Given the description of an element on the screen output the (x, y) to click on. 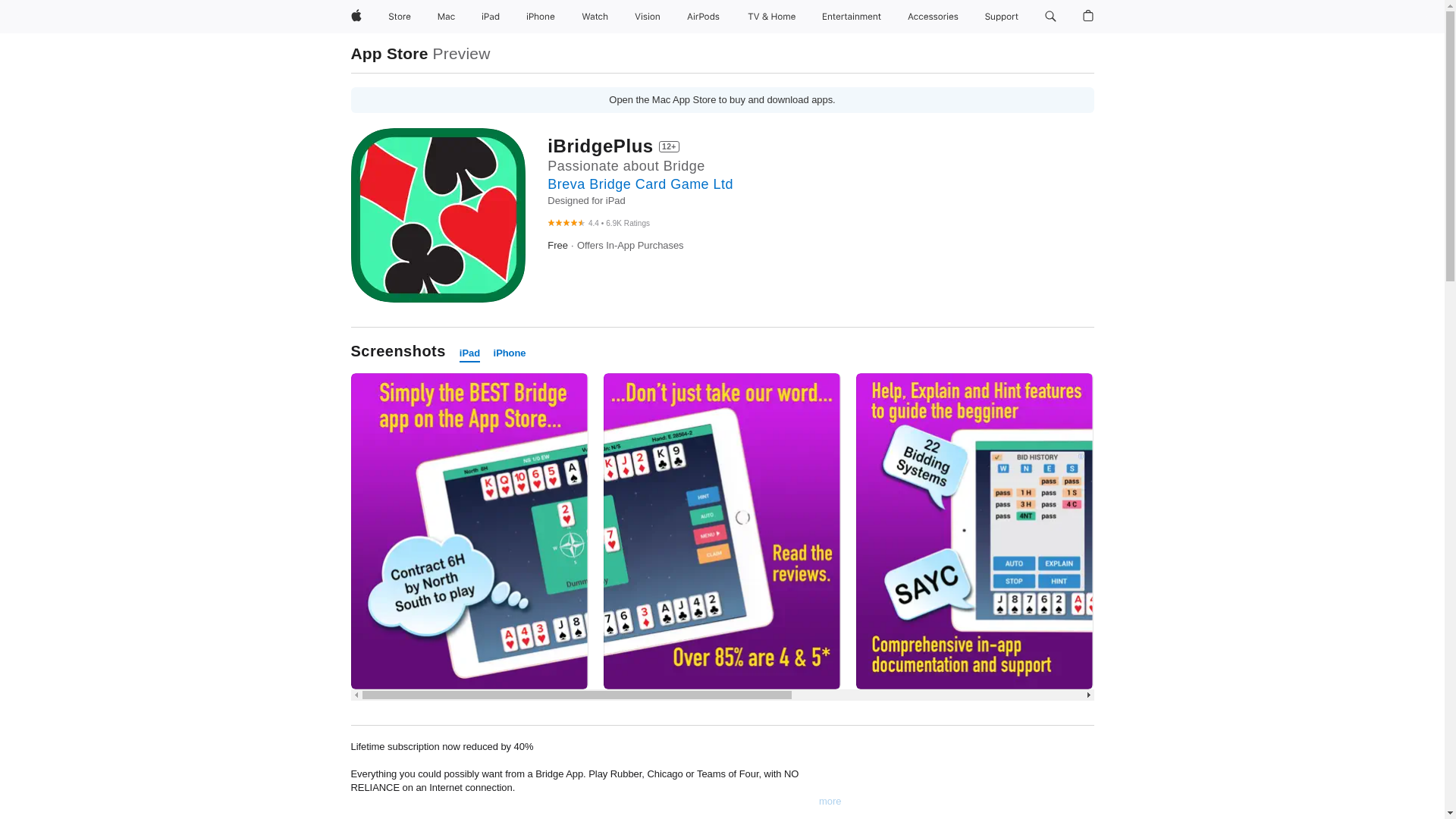
Store (398, 16)
